Given the description of an element on the screen output the (x, y) to click on. 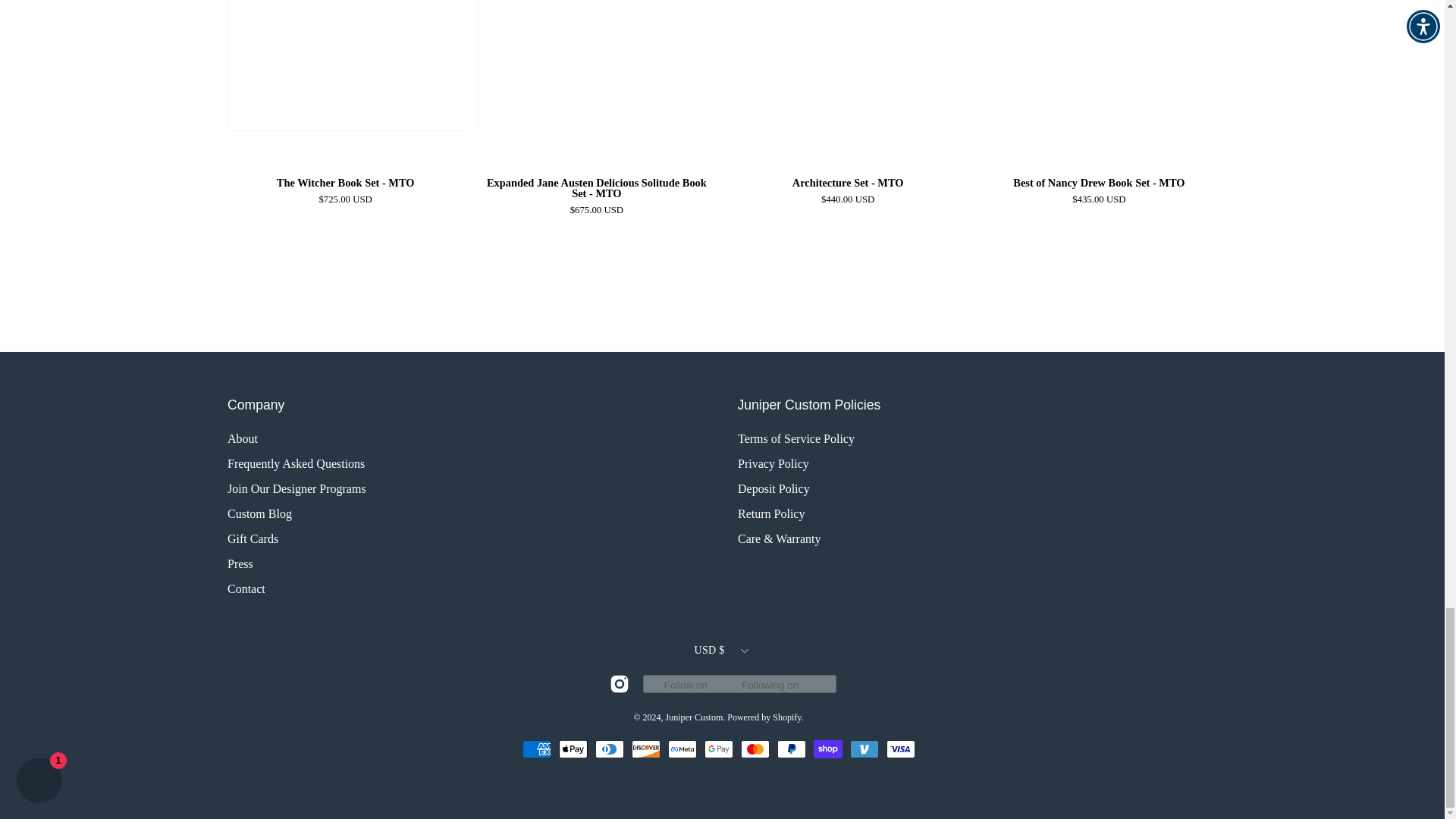
View Juniper Custom on Instagram (619, 683)
